Given the description of an element on the screen output the (x, y) to click on. 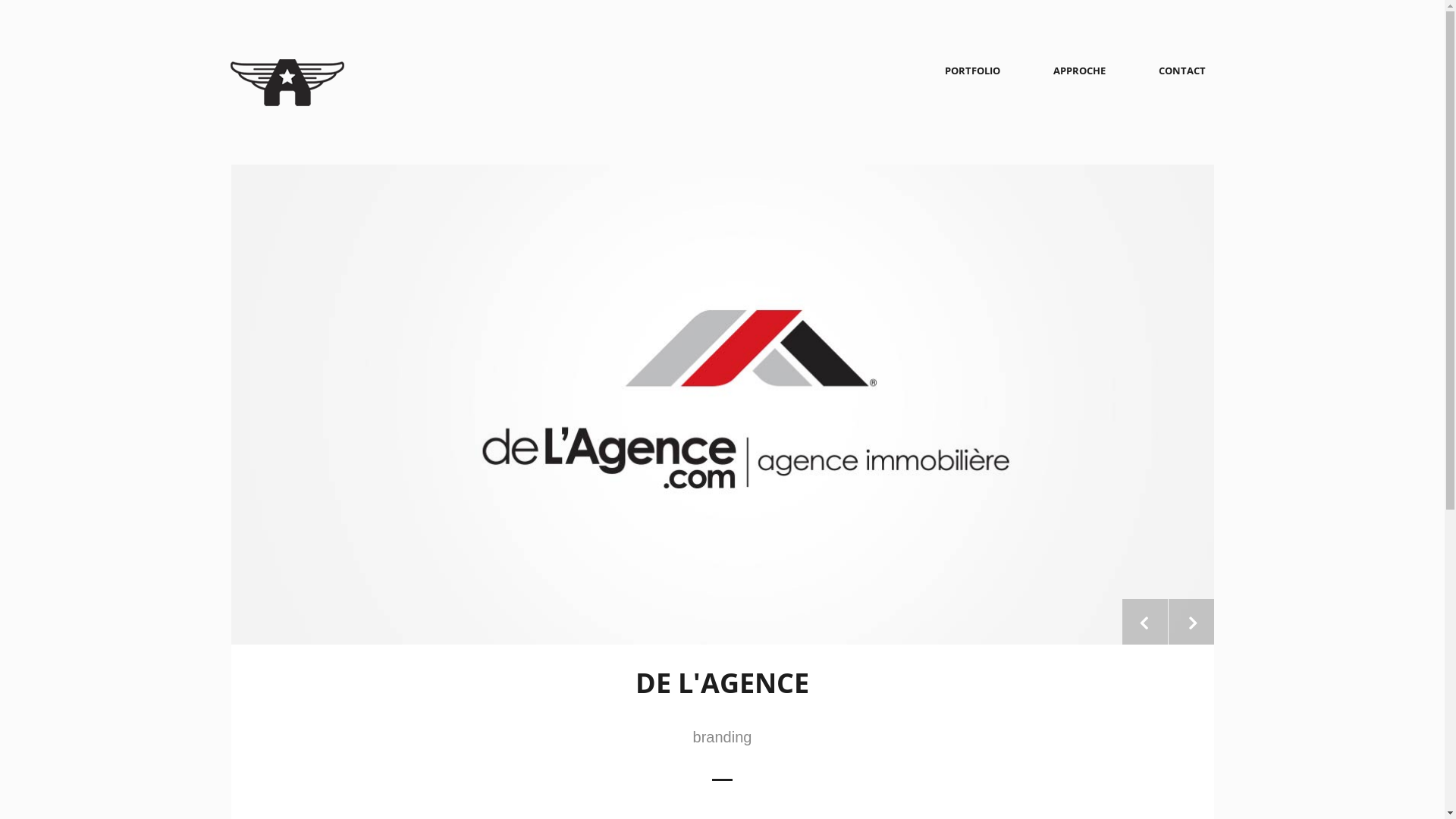
APPROCHE Element type: text (1079, 70)
CONTACT Element type: text (1181, 70)
PORTFOLIO Element type: text (972, 70)
